Given the description of an element on the screen output the (x, y) to click on. 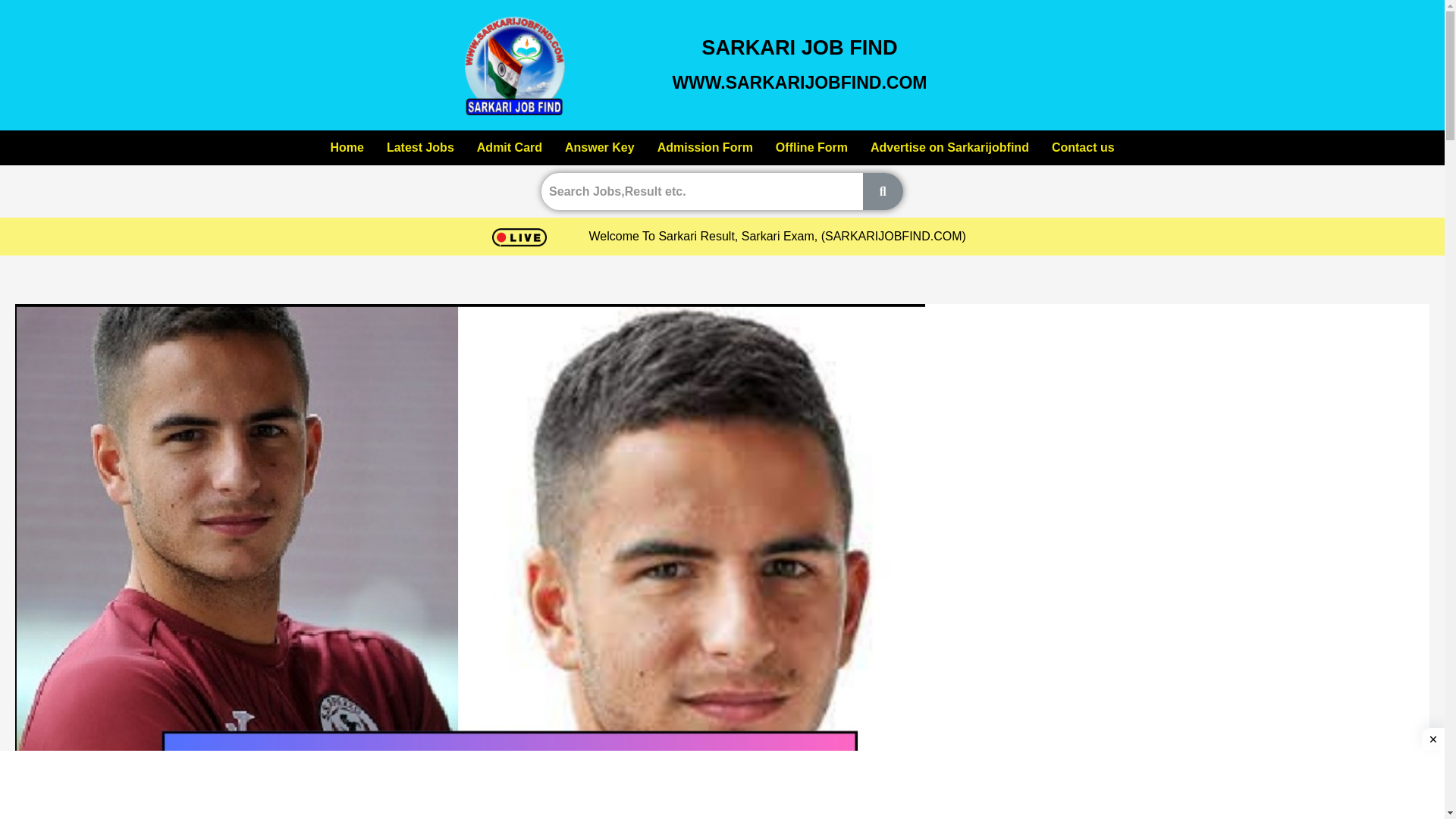
Contact us (1072, 148)
Advertise on Sarkarijobfind (951, 148)
Search (701, 190)
Admission Form (698, 145)
Latest Jobs (406, 146)
Answer Key (582, 145)
Home (359, 148)
Admit Card (488, 145)
Offline Form (814, 146)
